Given the description of an element on the screen output the (x, y) to click on. 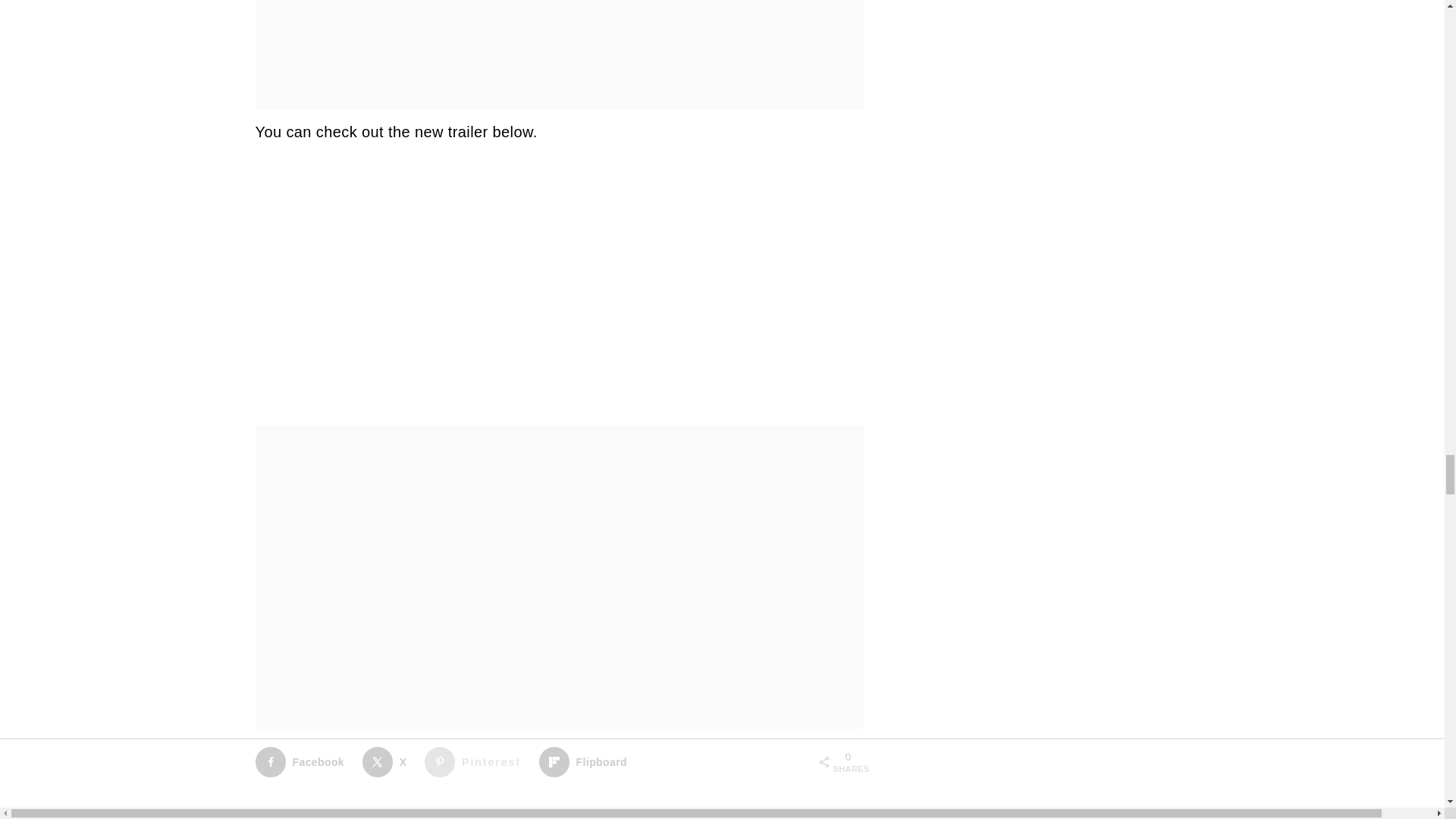
Share on X (387, 761)
Share on Facebook (302, 761)
Share on Flipboard (585, 761)
Save to Pinterest (476, 761)
